Given the description of an element on the screen output the (x, y) to click on. 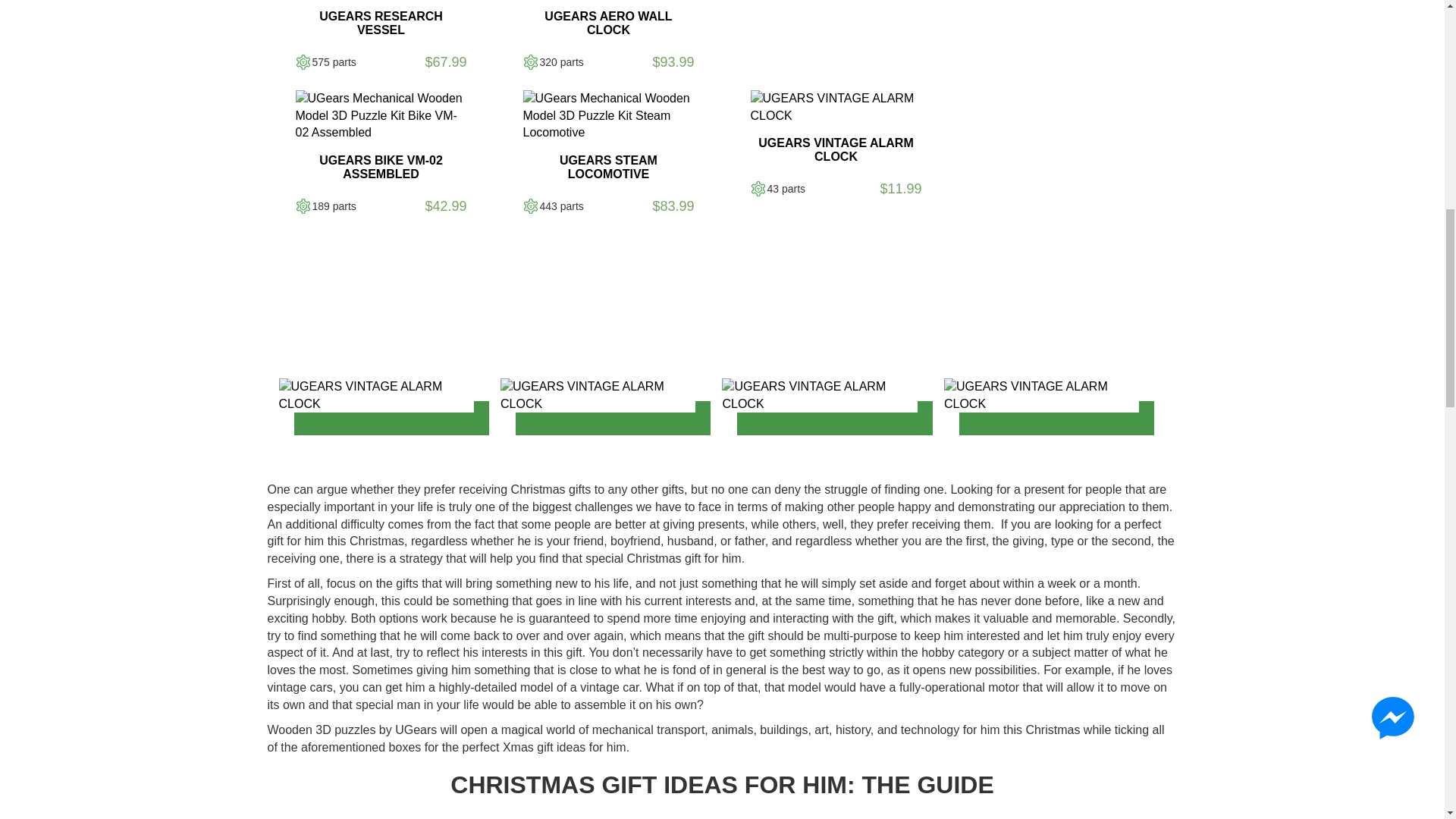
UGEARS VINTAGE ALARM CLOCK (1040, 395)
UGEARS VINTAGE ALARM CLOCK (836, 107)
UGEARS VINTAGE ALARM CLOCK (597, 395)
UGEARS VINTAGE ALARM CLOCK (376, 395)
UGEARS VINTAGE ALARM CLOCK (819, 395)
